Given the description of an element on the screen output the (x, y) to click on. 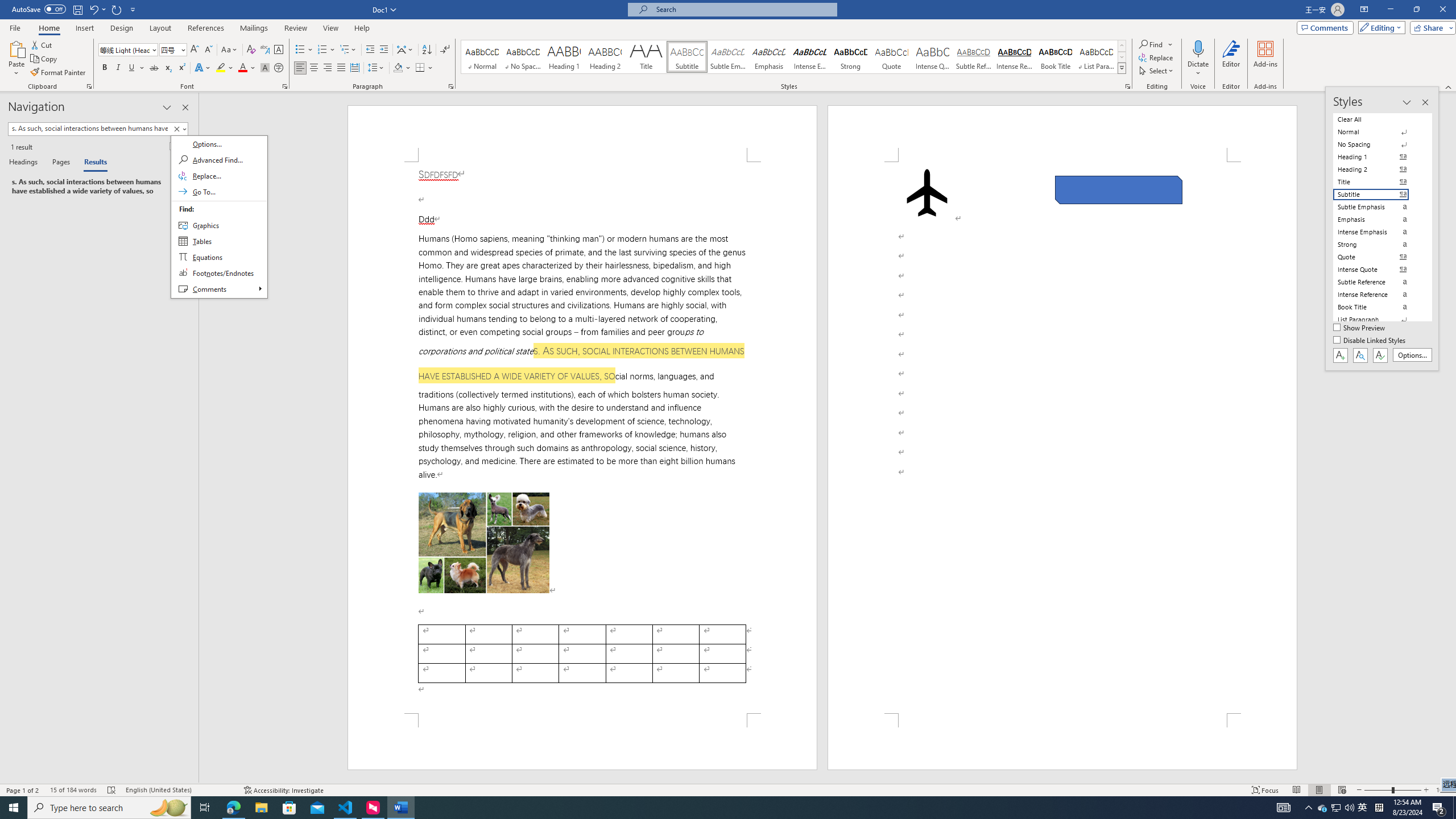
Sort... (426, 49)
Search document (89, 128)
Zoom 104% (1443, 790)
Font Color (246, 67)
Show/Hide Editing Marks (444, 49)
Task View (204, 807)
Type here to search (108, 807)
Justify (340, 67)
Microsoft Store (1322, 807)
Class: NetUIButton (289, 807)
